Given the description of an element on the screen output the (x, y) to click on. 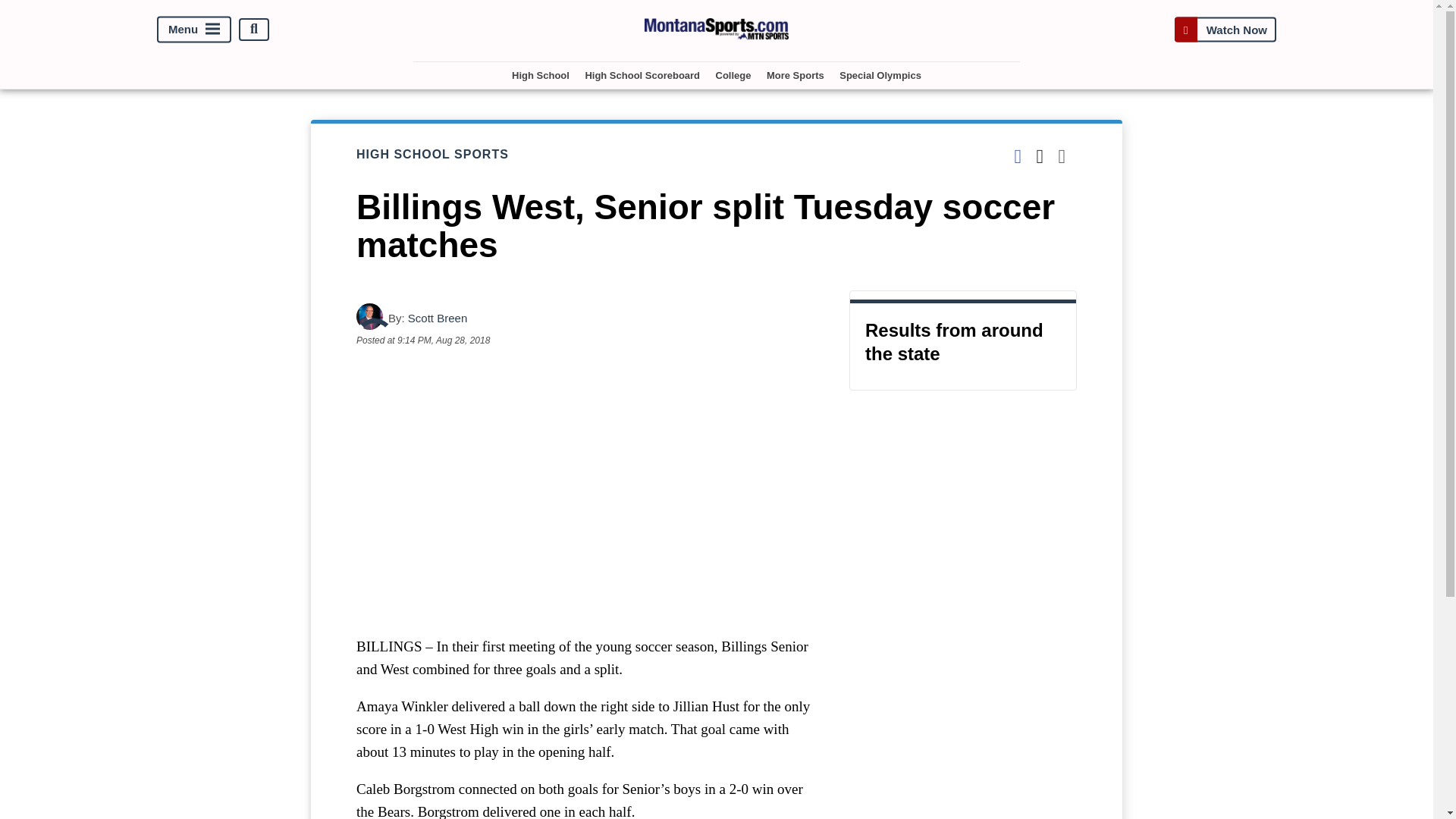
YouTube player (587, 490)
Watch Now (1224, 29)
Menu (194, 28)
